Given the description of an element on the screen output the (x, y) to click on. 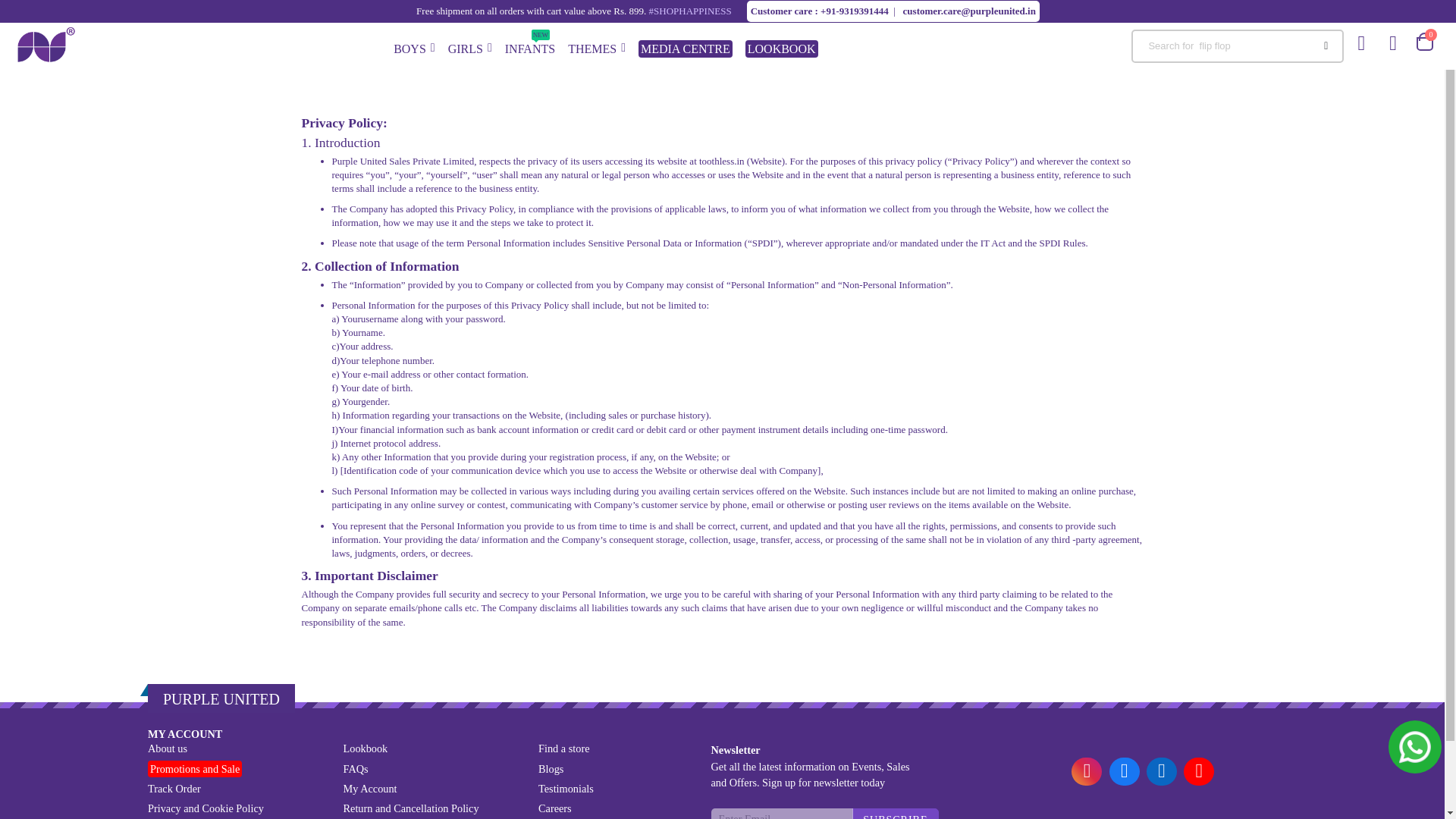
BOYS (529, 45)
Girls (414, 45)
THEMES (469, 45)
Boys (596, 45)
GIRLS (414, 45)
